Given the description of an element on the screen output the (x, y) to click on. 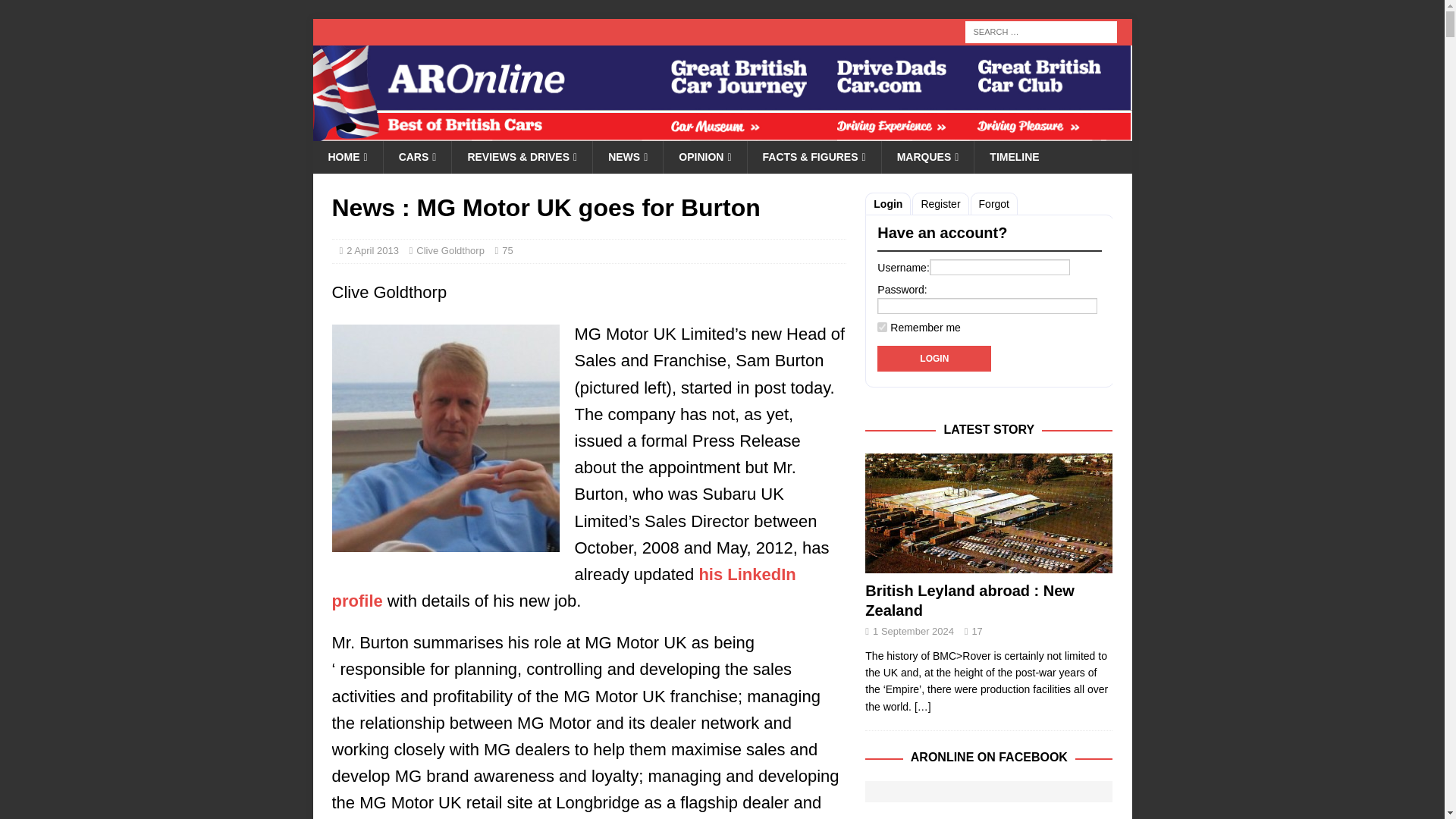
forever (881, 327)
Search (56, 11)
News : MG Motor UK goes for Burton (922, 706)
British Leyland abroad : New Zealand (969, 600)
Login (934, 358)
AROnline model histories (416, 156)
AROnline (722, 132)
British Leyland abroad : New Zealand (988, 513)
